Given the description of an element on the screen output the (x, y) to click on. 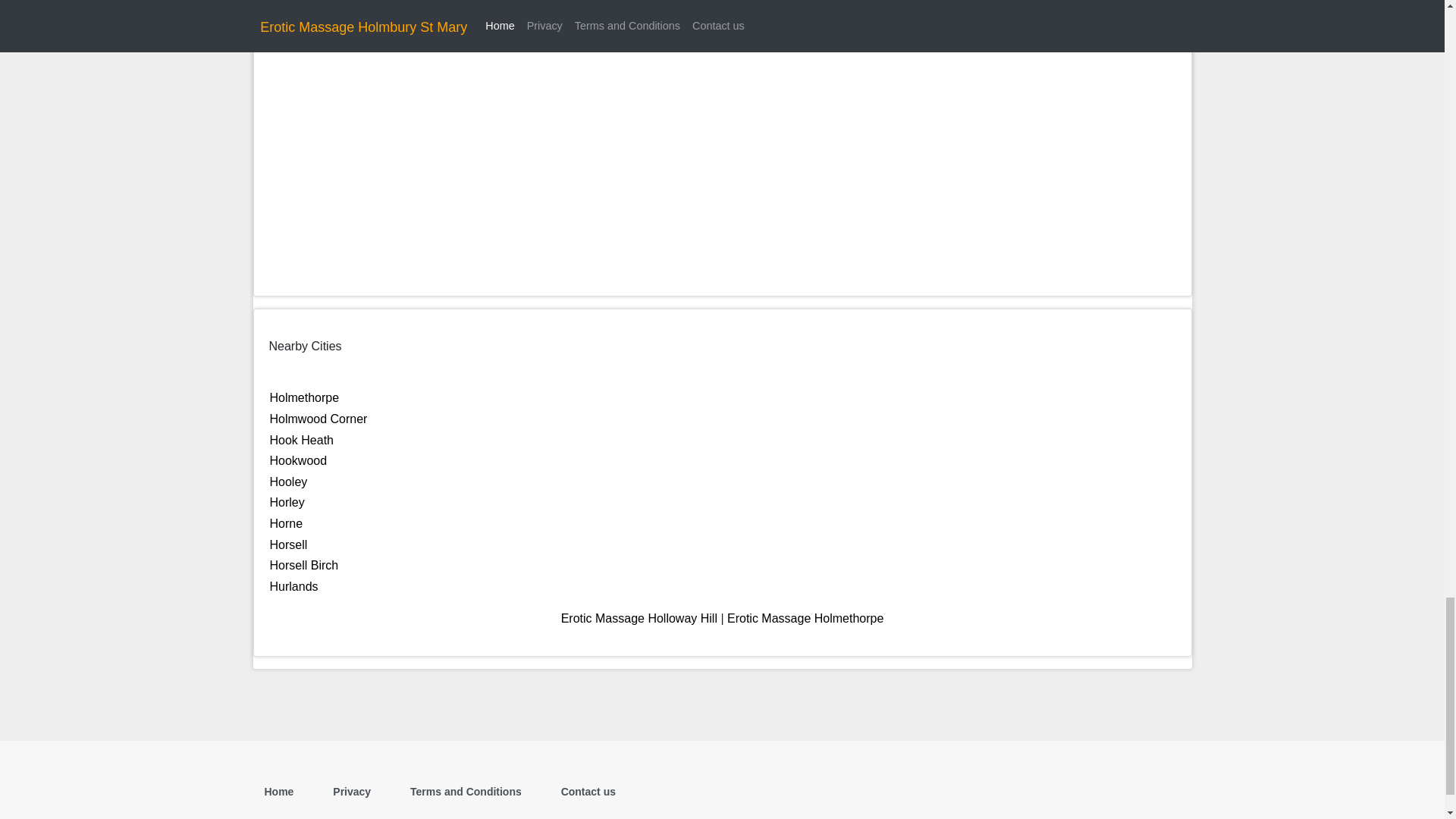
Horley (286, 502)
Hooley (288, 481)
Hookwood (298, 460)
Erotic Massage Holmethorpe (804, 617)
Hook Heath (301, 440)
Hurlands (293, 585)
Holmwood Corner (318, 418)
Horsell Birch (304, 564)
Holmethorpe (304, 397)
Erotic Massage Holloway Hill (638, 617)
